Given the description of an element on the screen output the (x, y) to click on. 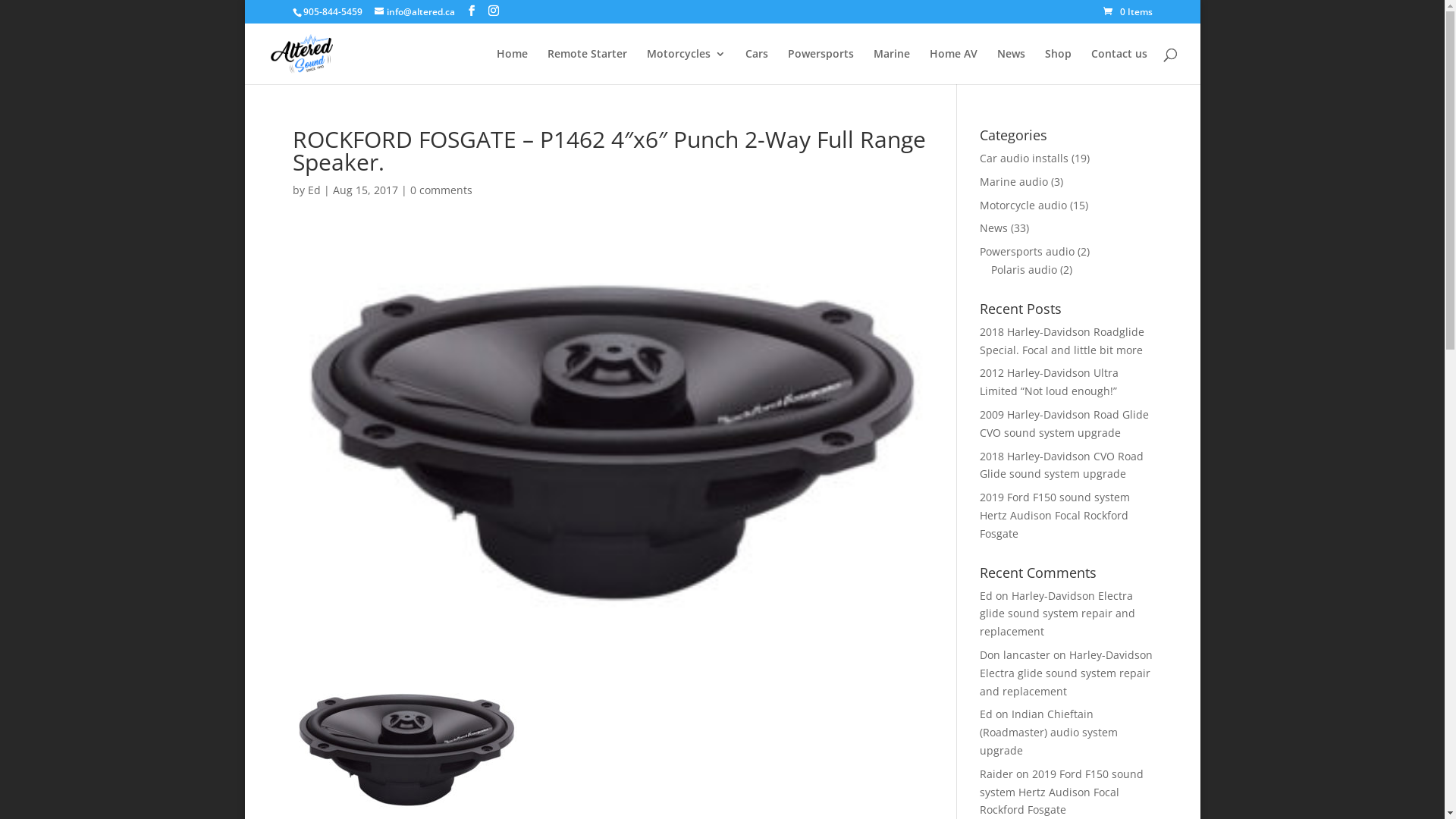
Motorcycles Element type: text (685, 66)
News Element type: text (1010, 66)
2009 Harley-Davidson Road Glide CVO sound system upgrade Element type: text (1063, 423)
Polaris audio Element type: text (1023, 269)
Remote Starter Element type: text (587, 66)
info@altered.ca Element type: text (414, 11)
0 comments Element type: text (440, 189)
Shop Element type: text (1057, 66)
Motorcycle audio Element type: text (1022, 204)
0 Items Element type: text (1126, 11)
Ed Element type: text (313, 189)
News Element type: text (993, 227)
Cars Element type: text (755, 66)
Marine Element type: text (891, 66)
Powersports audio Element type: text (1026, 251)
Powersports Element type: text (820, 66)
Indian Chieftain (Roadmaster) audio system upgrade Element type: text (1048, 731)
Marine audio Element type: text (1013, 181)
Contact us Element type: text (1118, 66)
Car audio installs Element type: text (1023, 157)
Home AV Element type: text (953, 66)
Home Element type: text (511, 66)
2018 Harley-Davidson CVO Road Glide sound system upgrade Element type: text (1061, 464)
